Given the description of an element on the screen output the (x, y) to click on. 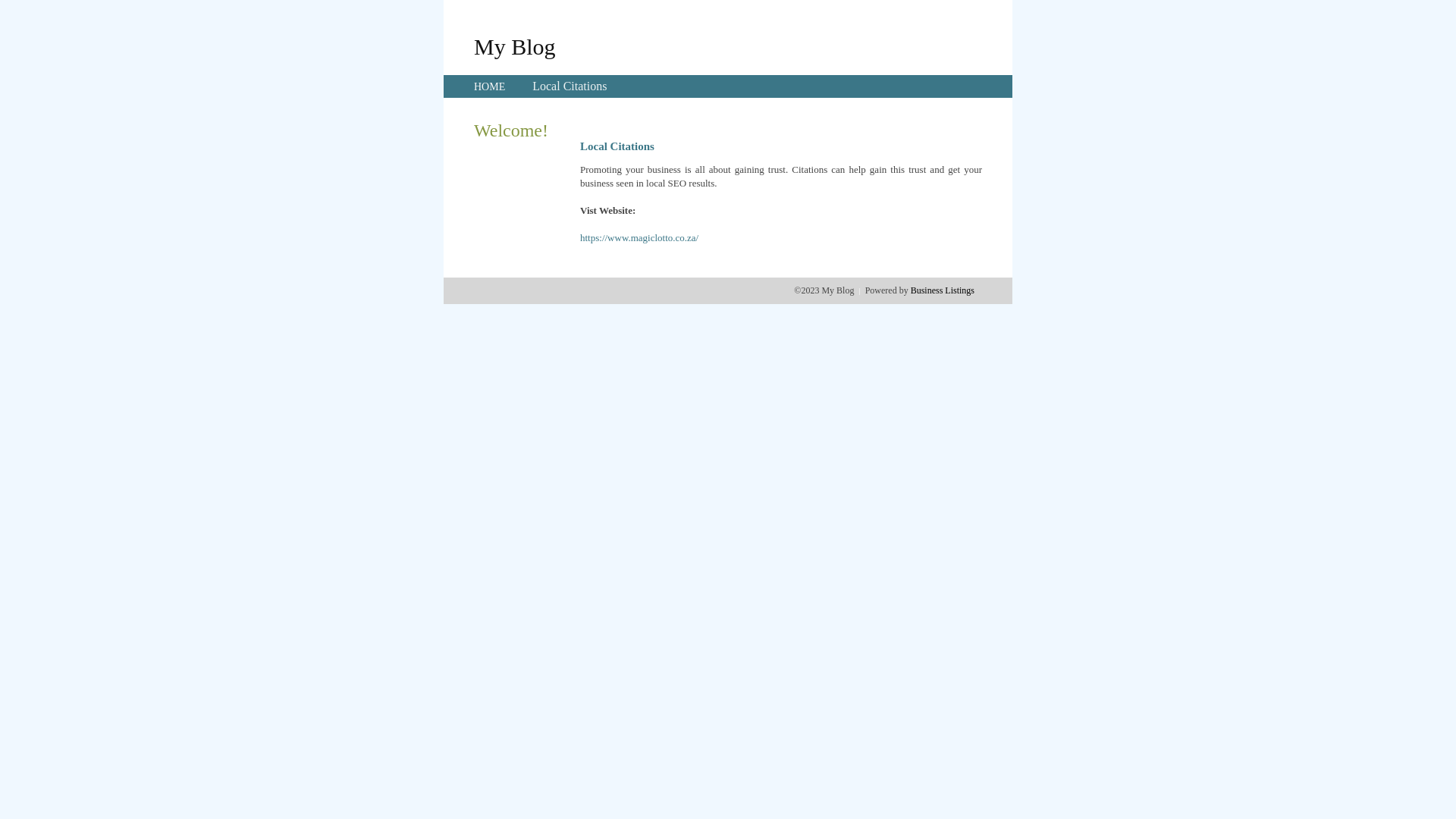
Business Listings Element type: text (942, 290)
Local Citations Element type: text (569, 85)
My Blog Element type: text (514, 46)
HOME Element type: text (489, 86)
https://www.magiclotto.co.za/ Element type: text (639, 237)
